Given the description of an element on the screen output the (x, y) to click on. 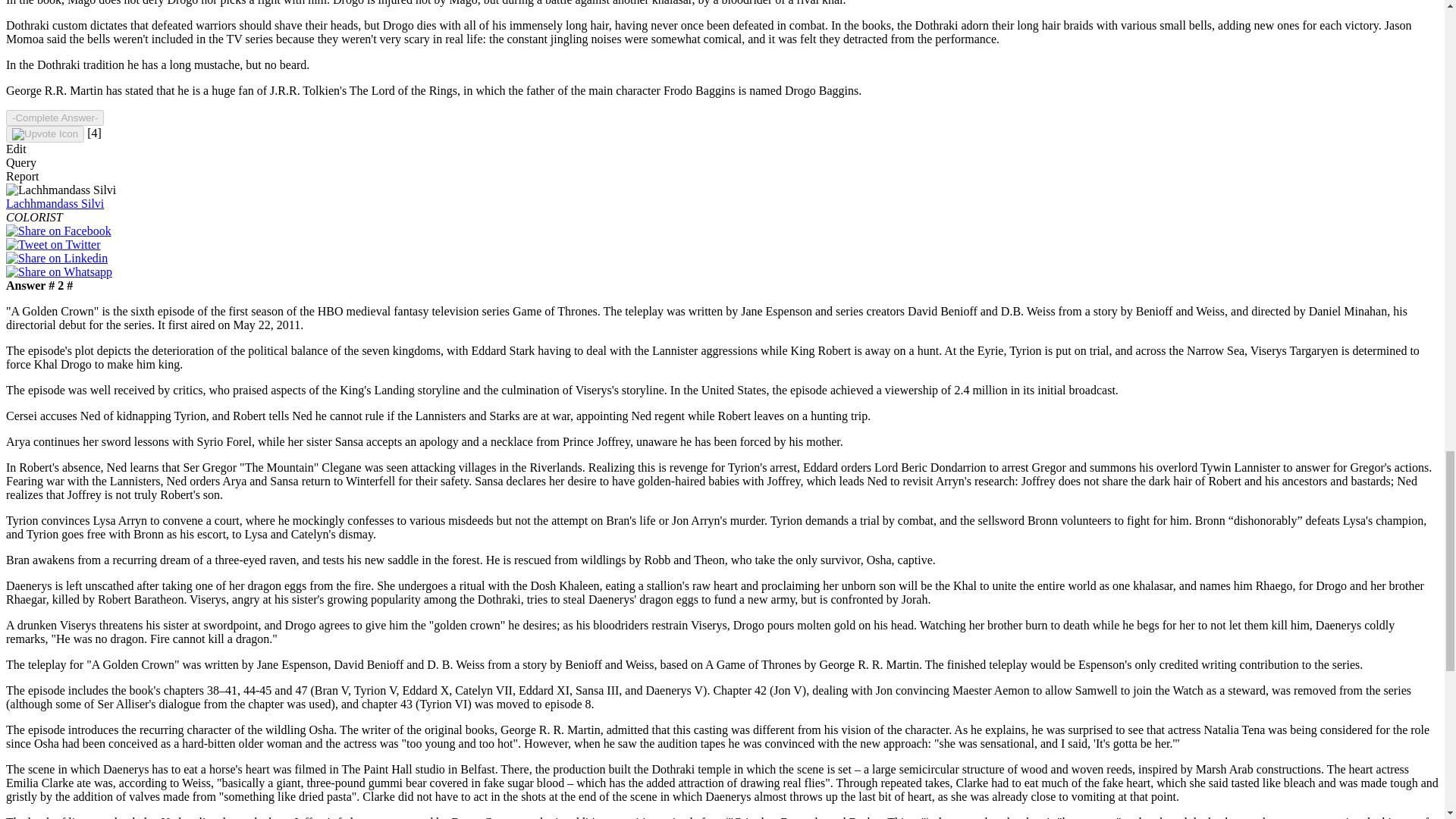
Lachhmandass Silvi (54, 203)
-Complete Answer- (54, 117)
